Given the description of an element on the screen output the (x, y) to click on. 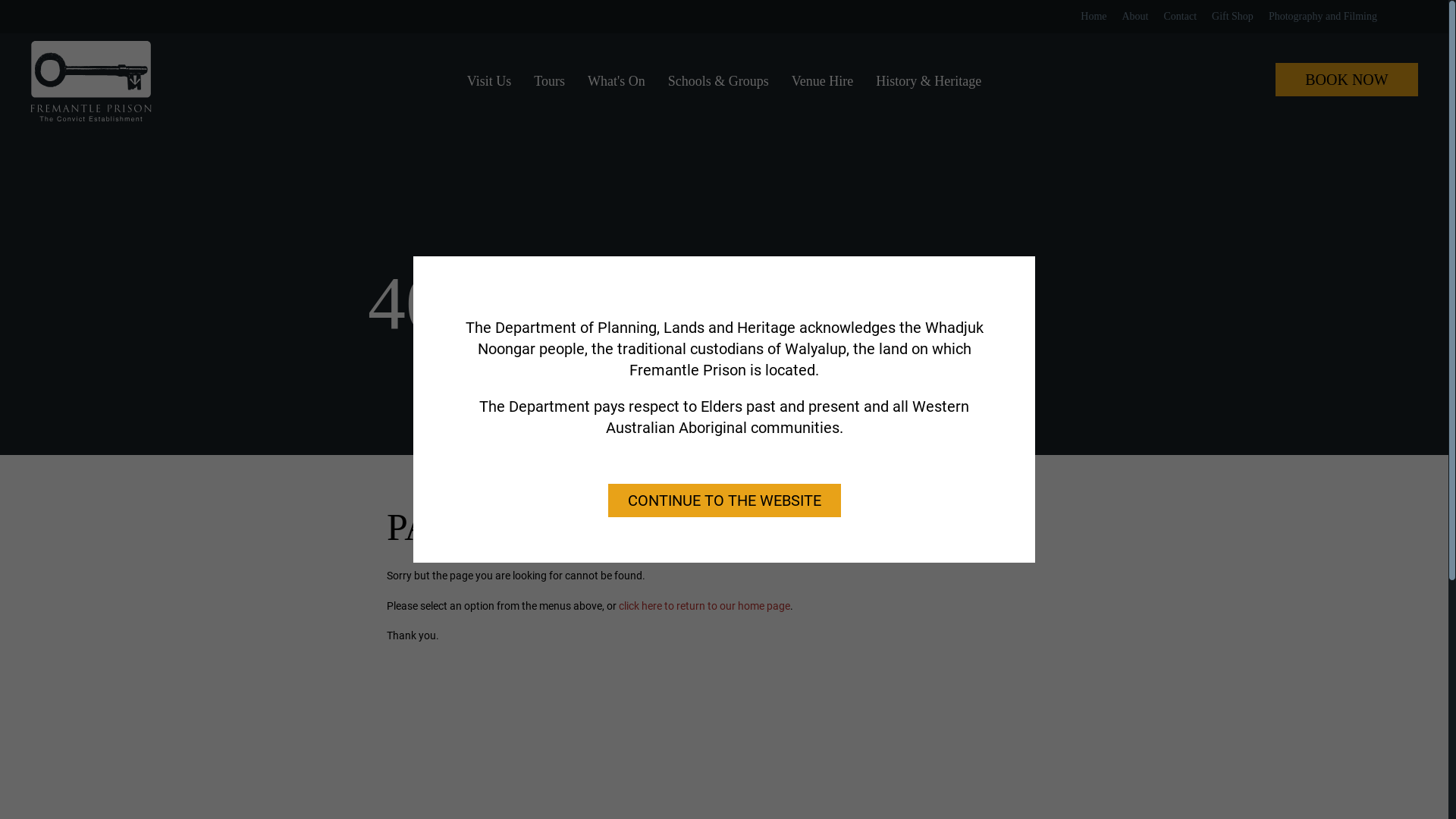
Photography and Filming Element type: text (1322, 16)
What's On Element type: text (616, 80)
Gift Shop Element type: text (1232, 16)
Contact Element type: text (1179, 16)
Book now Element type: hover (1346, 79)
History & Heritage Element type: text (928, 80)
click here to return to our home page Element type: text (704, 605)
About Element type: text (1134, 16)
Venue Hire Element type: text (822, 80)
Schools & Groups Element type: text (718, 80)
Visit Us Element type: text (489, 80)
Submit Element type: text (1401, 16)
Tours Element type: text (548, 80)
Home Element type: text (1093, 16)
CONTINUE TO THE WEBSITE Element type: text (724, 500)
